Given the description of an element on the screen output the (x, y) to click on. 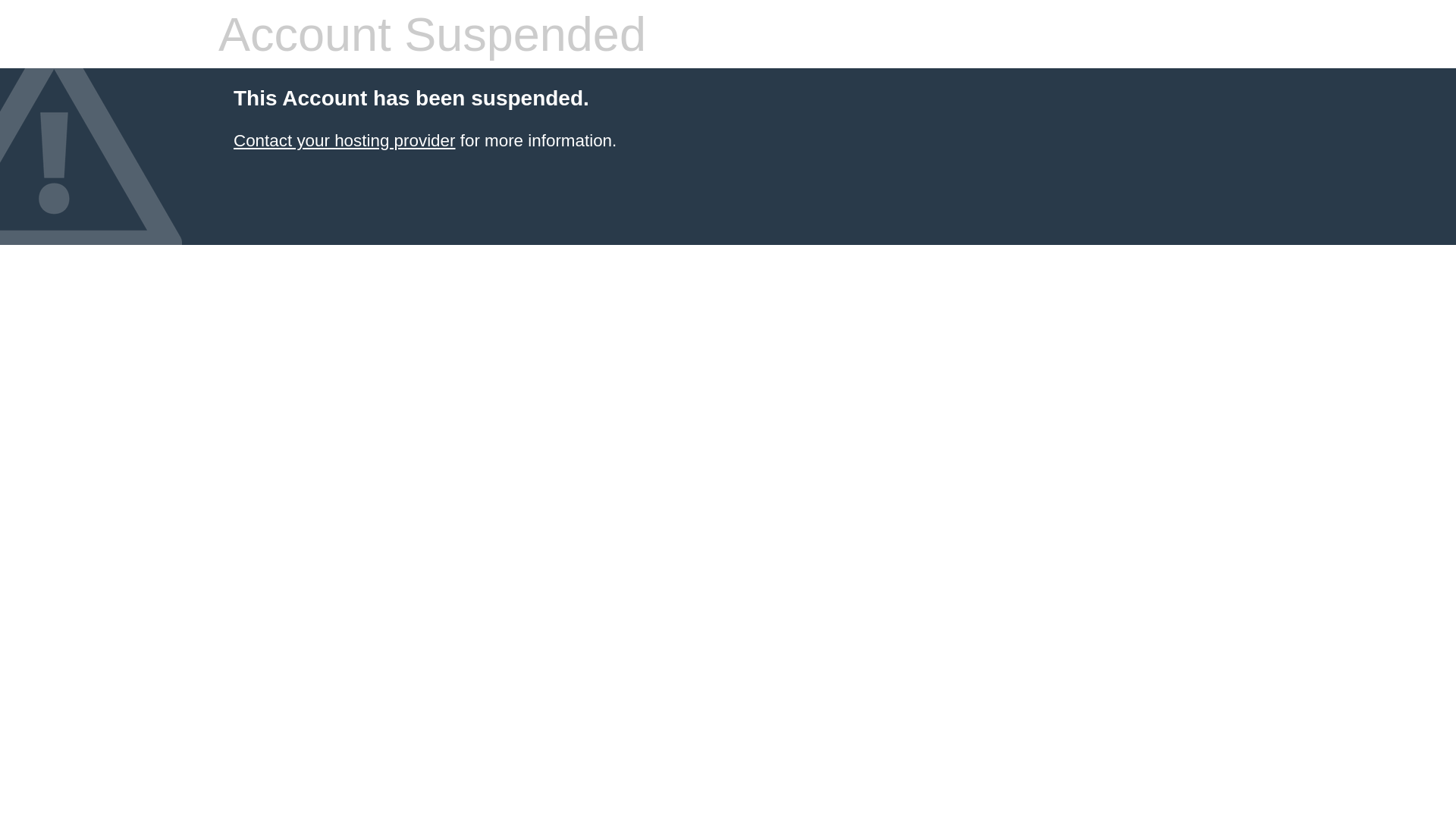
Contact your hosting provider Element type: text (344, 140)
